Given the description of an element on the screen output the (x, y) to click on. 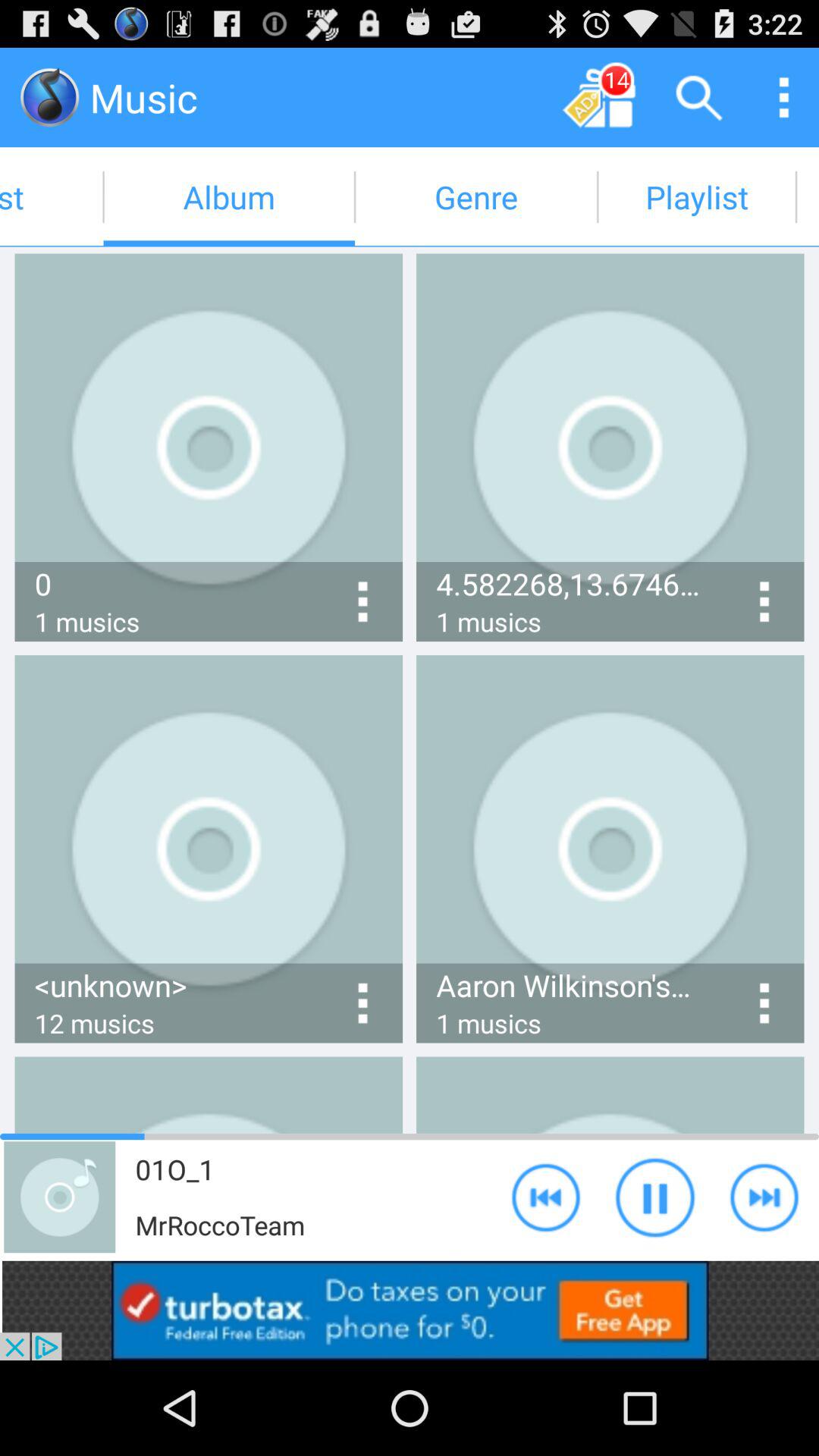
select the first block under the album (208, 447)
select the option icon which is right to aaron wilkinsons (764, 1003)
select the icon which is beside the mrrocco team (59, 1196)
click on album (229, 197)
select the search icon (699, 97)
